Given the description of an element on the screen output the (x, y) to click on. 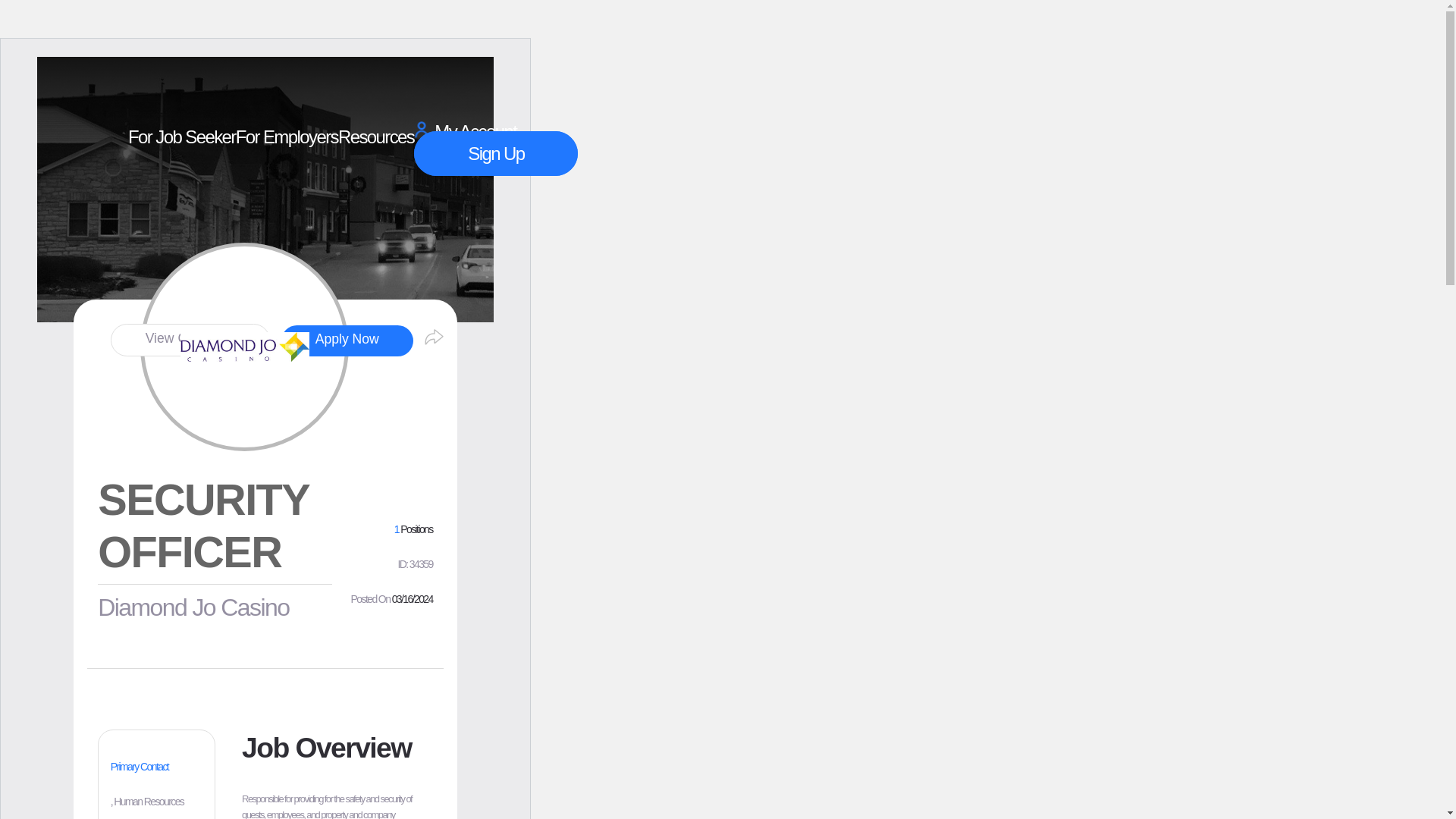
For Employers (286, 137)
Resources (375, 137)
View Company (189, 339)
For Job Seeker (181, 137)
My Account (464, 131)
